Given the description of an element on the screen output the (x, y) to click on. 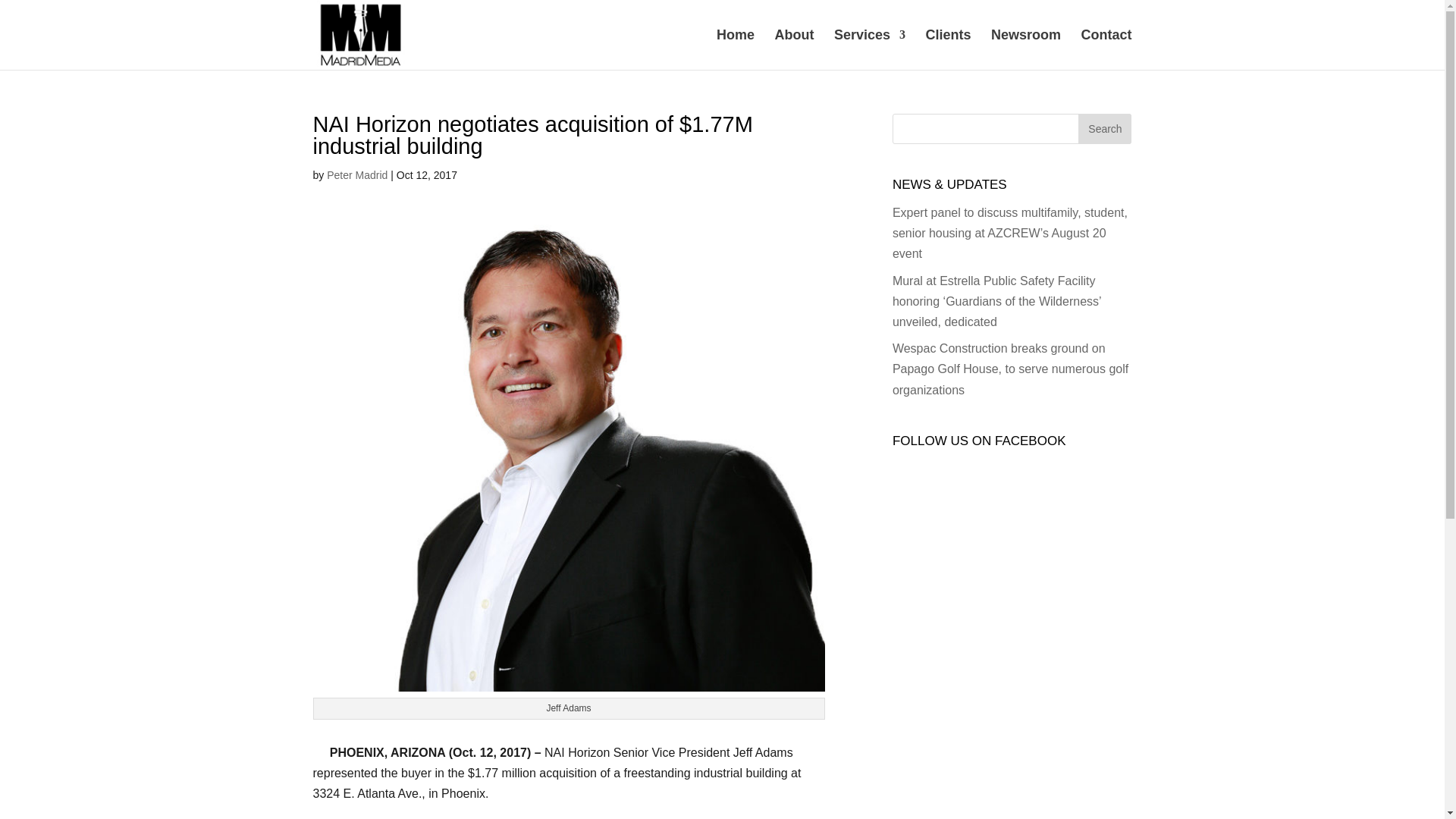
Search (1104, 128)
Services (869, 49)
Search (1104, 128)
Home (735, 49)
Peter Madrid (356, 174)
About (793, 49)
Newsroom (1026, 49)
Clients (948, 49)
Contact (1106, 49)
Posts by Peter Madrid (356, 174)
